Given the description of an element on the screen output the (x, y) to click on. 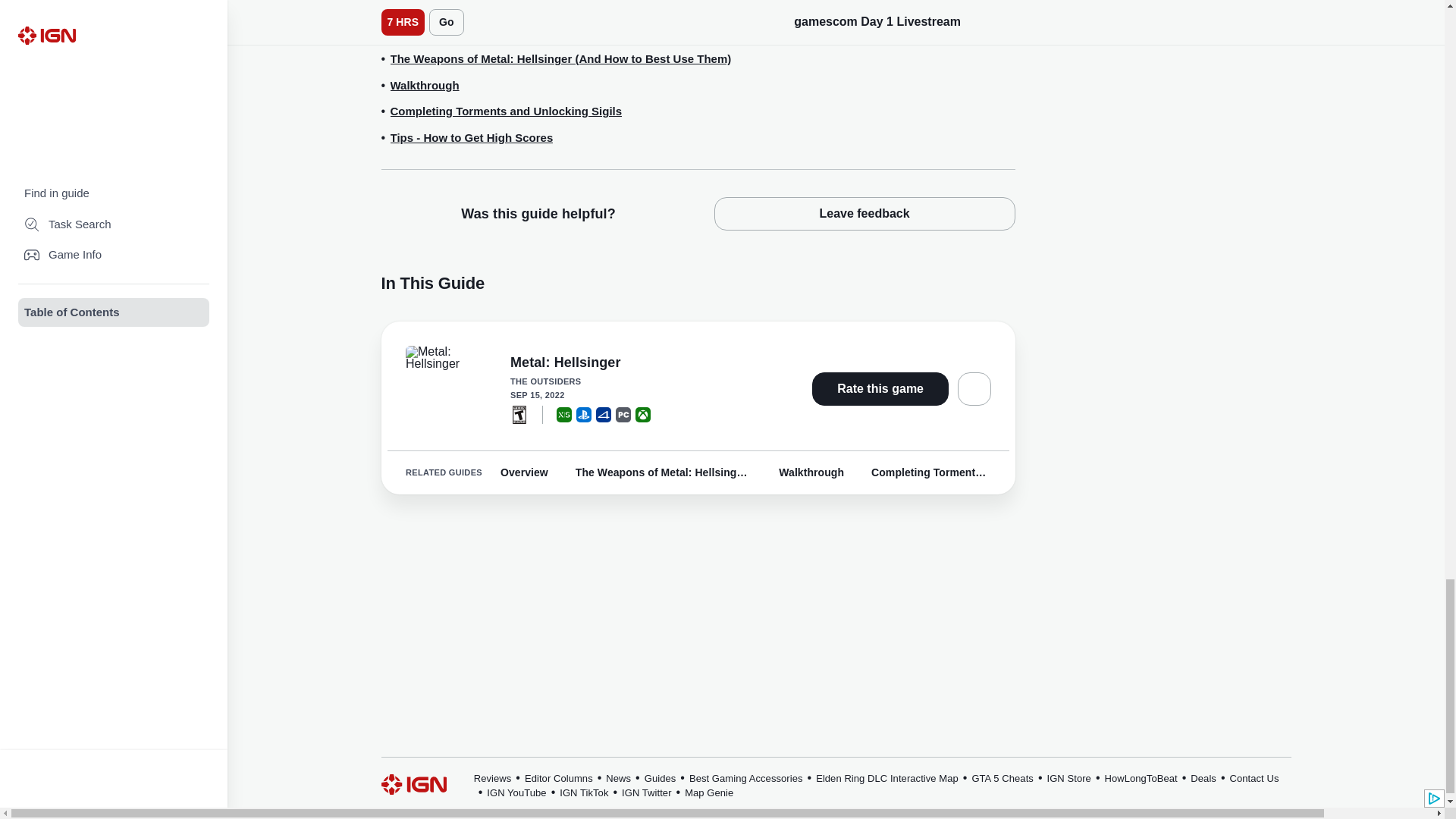
PC (622, 413)
Leave feedback (864, 213)
PlayStation 4 (603, 413)
ESRB: T (518, 413)
PlayStation 4 (603, 413)
THE OUTSIDERS (641, 380)
Walkthrough (424, 85)
Xbox One (642, 413)
ESRB: Teen (518, 413)
PlayStation 5 (583, 413)
